Given the description of an element on the screen output the (x, y) to click on. 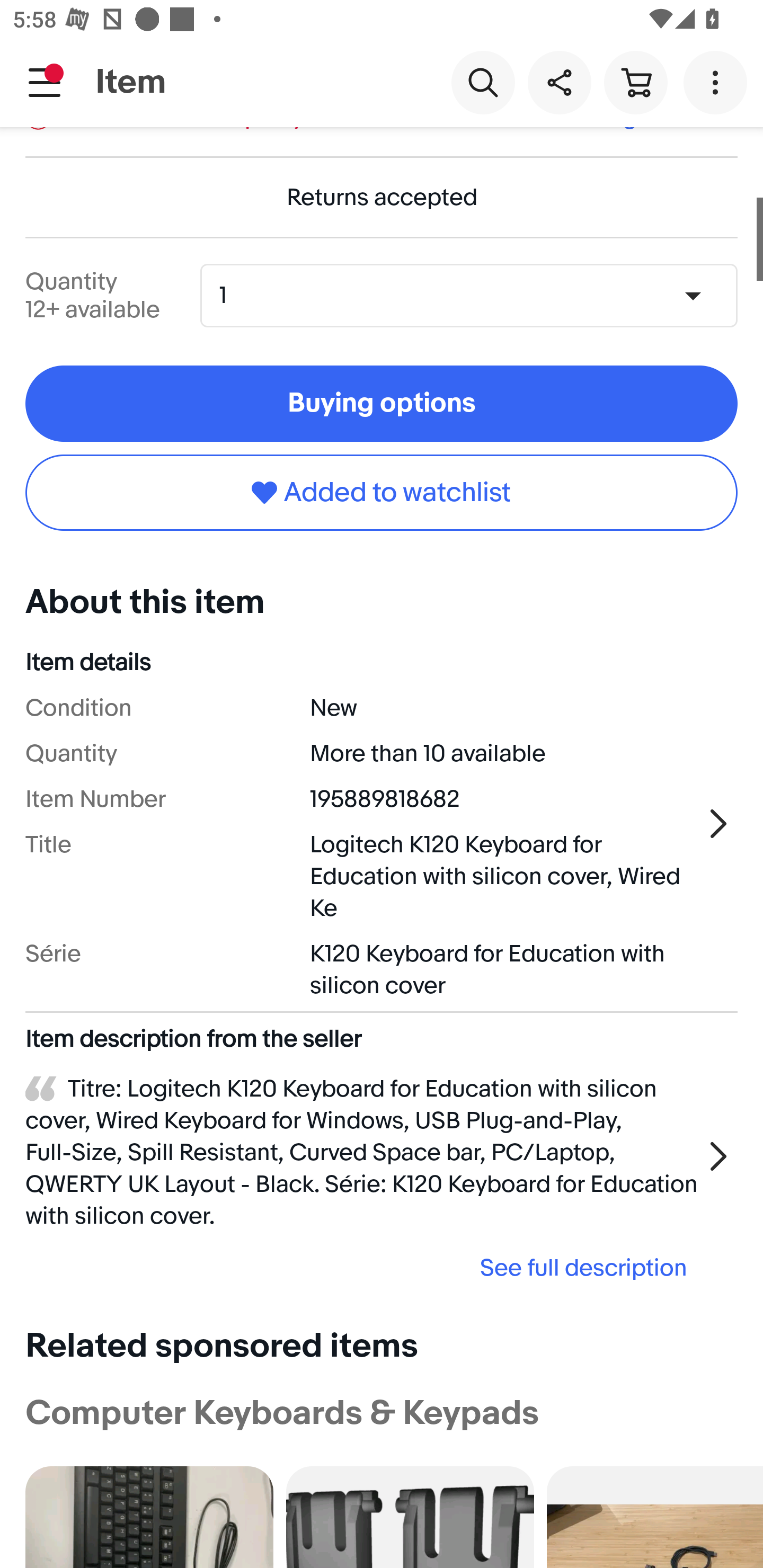
Main navigation, notification is pending, open (44, 82)
Search (482, 81)
Share this item (559, 81)
Cart button shopping cart (635, 81)
More options (718, 81)
Quantity,1,12+ available 1 (474, 295)
Buying options (381, 403)
Added to watchlist (381, 492)
See full description (362, 1267)
